Given the description of an element on the screen output the (x, y) to click on. 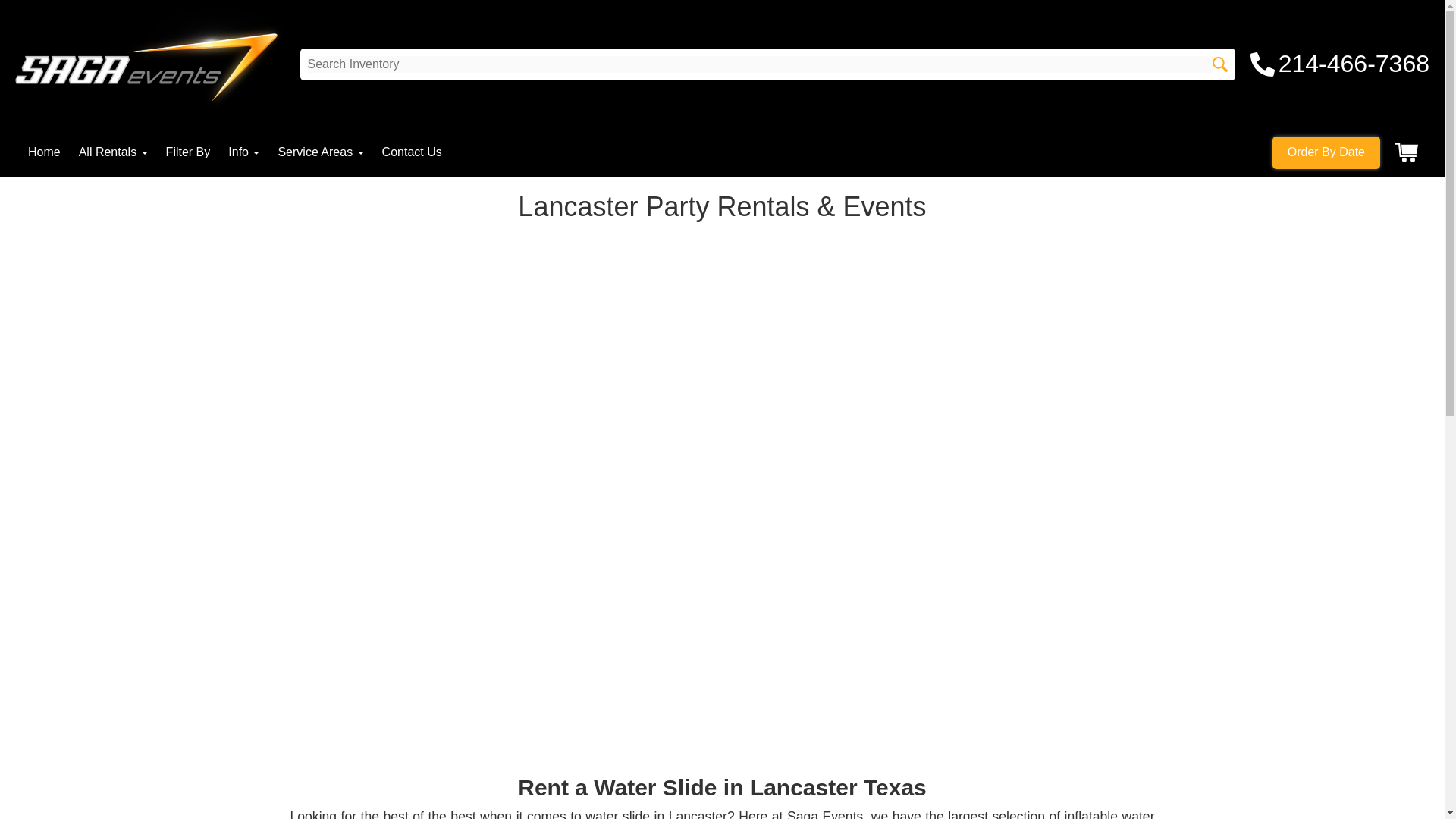
Home (44, 151)
All Rentals (113, 151)
Info (243, 151)
Order By Date (1326, 152)
214-466-7368 (1339, 63)
Contact Us (411, 151)
Service Areas (320, 151)
Saga Events LLC (149, 64)
Filter By (188, 151)
